Given the description of an element on the screen output the (x, y) to click on. 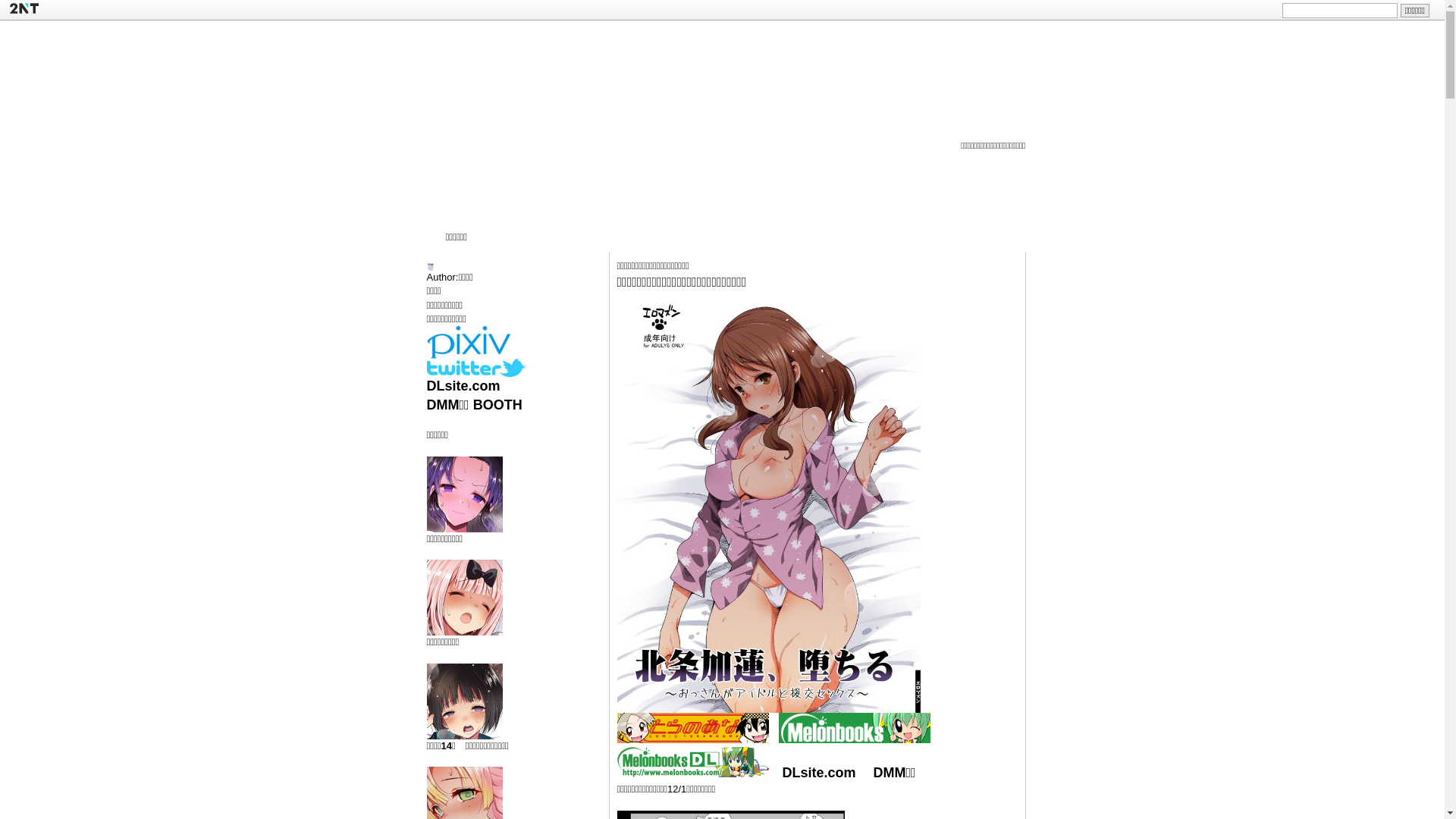
header_point Element type: text (1003, 31)
BOOTH Element type: text (497, 404)
DLsite.com Element type: text (819, 772)
DLsite.com Element type: text (462, 385)
